Given the description of an element on the screen output the (x, y) to click on. 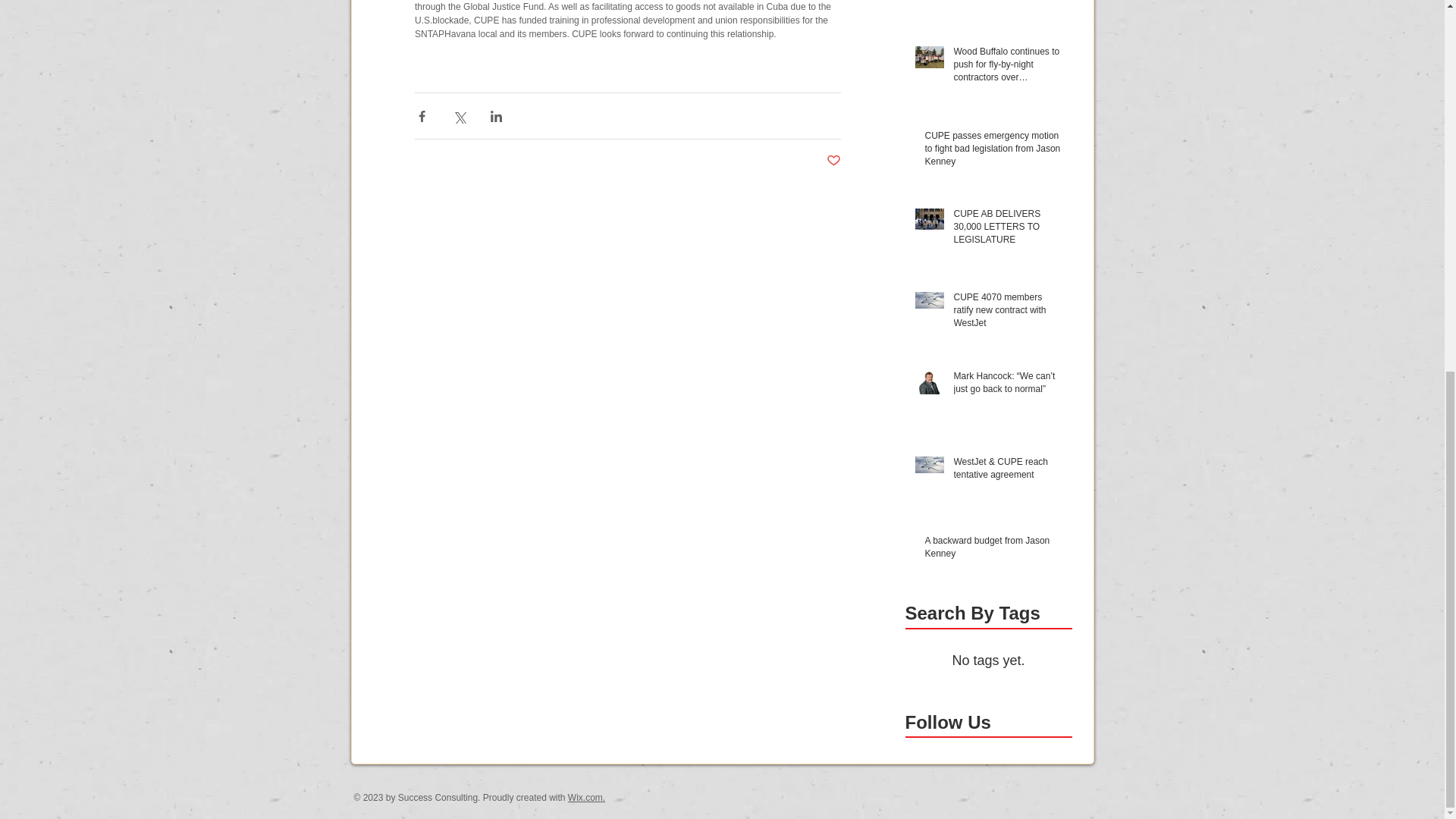
Post not marked as liked (834, 160)
CUPE 4070 members ratify new contract with WestJet (1007, 312)
CUPE AB DELIVERS 30,000 LETTERS TO LEGISLATURE (1007, 229)
A backward budget from Jason Kenney (993, 550)
Wix.com. (586, 797)
